Given the description of an element on the screen output the (x, y) to click on. 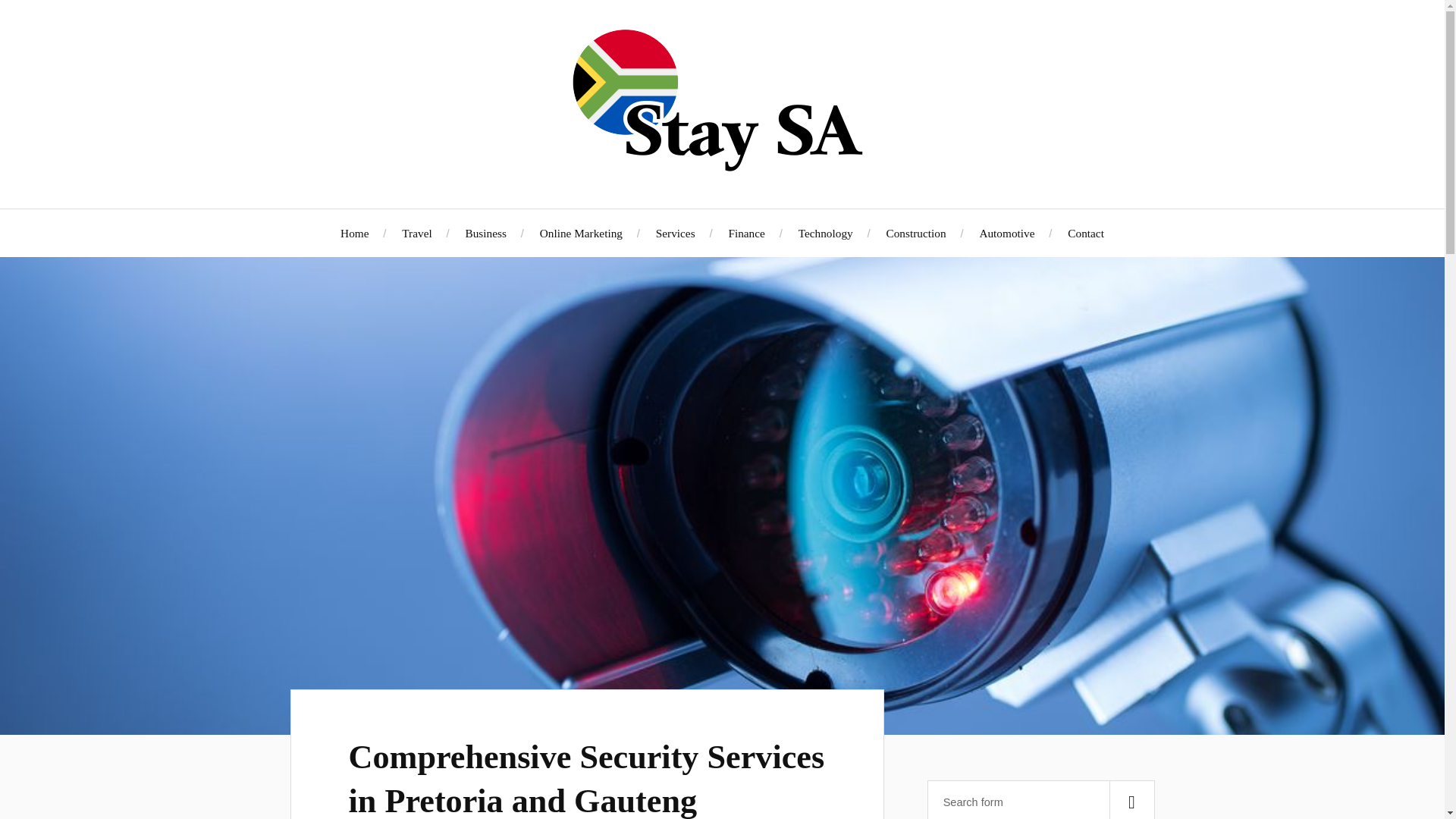
Services (675, 233)
Finance (746, 233)
Online Marketing (581, 233)
Business (485, 233)
Contact (1085, 233)
Technology (825, 233)
Travel (415, 233)
Comprehensive Security Services in Pretoria and Gauteng (587, 778)
Home (354, 233)
Construction (916, 233)
Automotive (1005, 233)
